Given the description of an element on the screen output the (x, y) to click on. 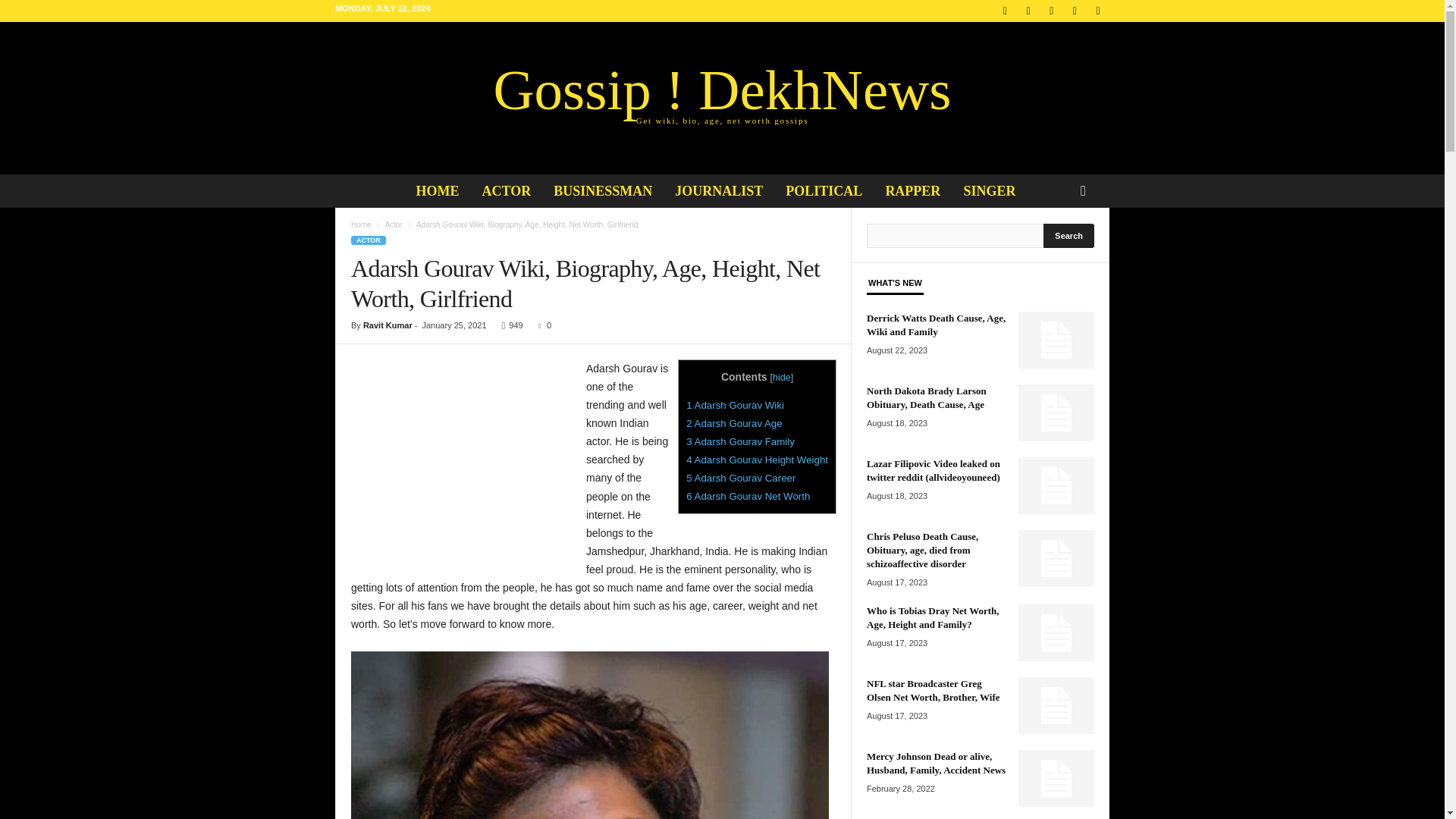
Actor (394, 224)
Home (360, 224)
3 Adarsh Gourav Family (739, 441)
BUSINESSMAN (602, 191)
Ravit Kumar (387, 325)
JOURNALIST (718, 191)
hide (781, 377)
HOME (437, 191)
2 Adarsh Gourav Age (733, 423)
ACTOR (506, 191)
ACTOR (367, 239)
RAPPER (912, 191)
View all posts in Actor (722, 97)
SINGER (394, 224)
